Given the description of an element on the screen output the (x, y) to click on. 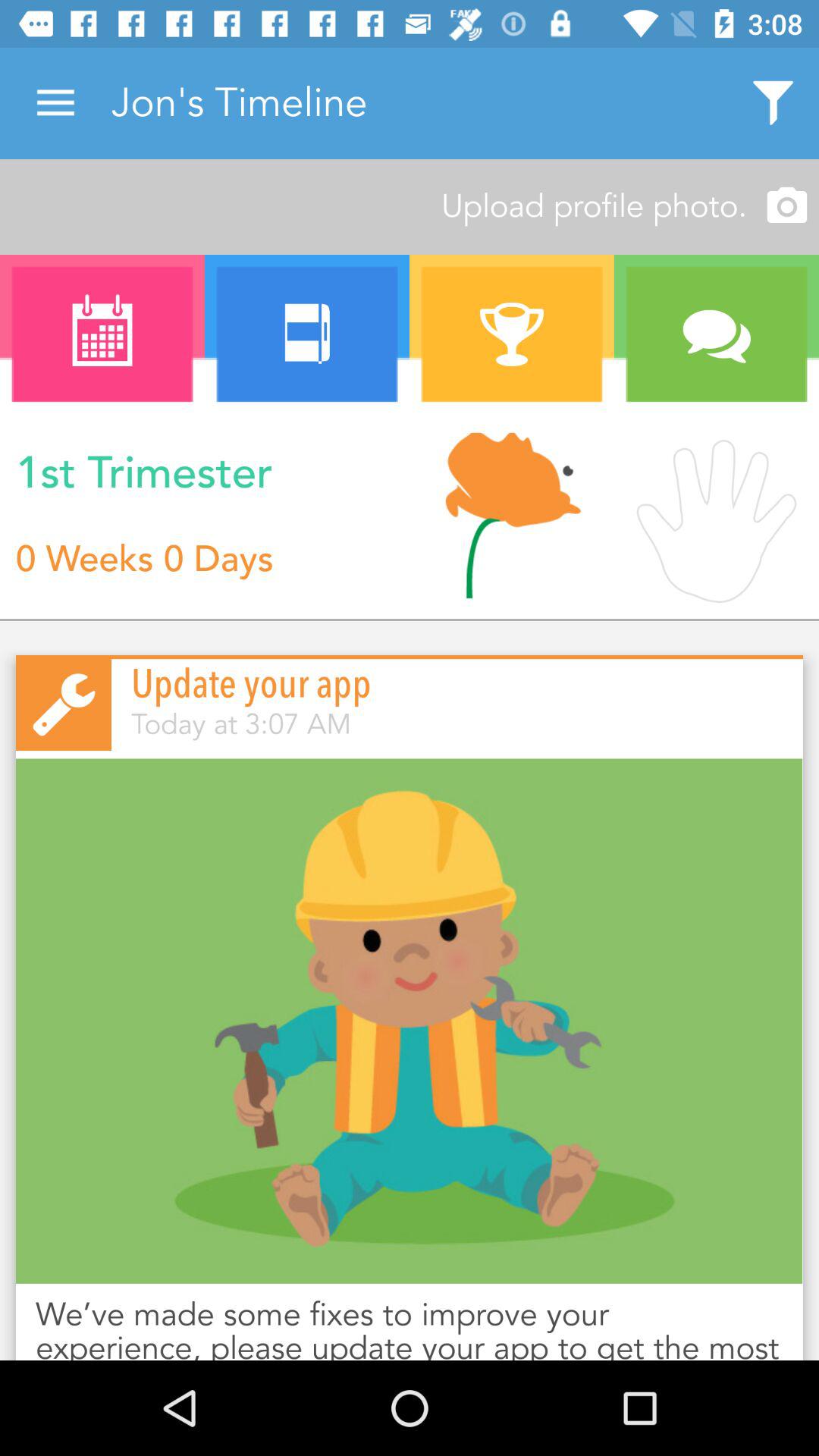
select the item below upload profile photo. item (306, 334)
